Given the description of an element on the screen output the (x, y) to click on. 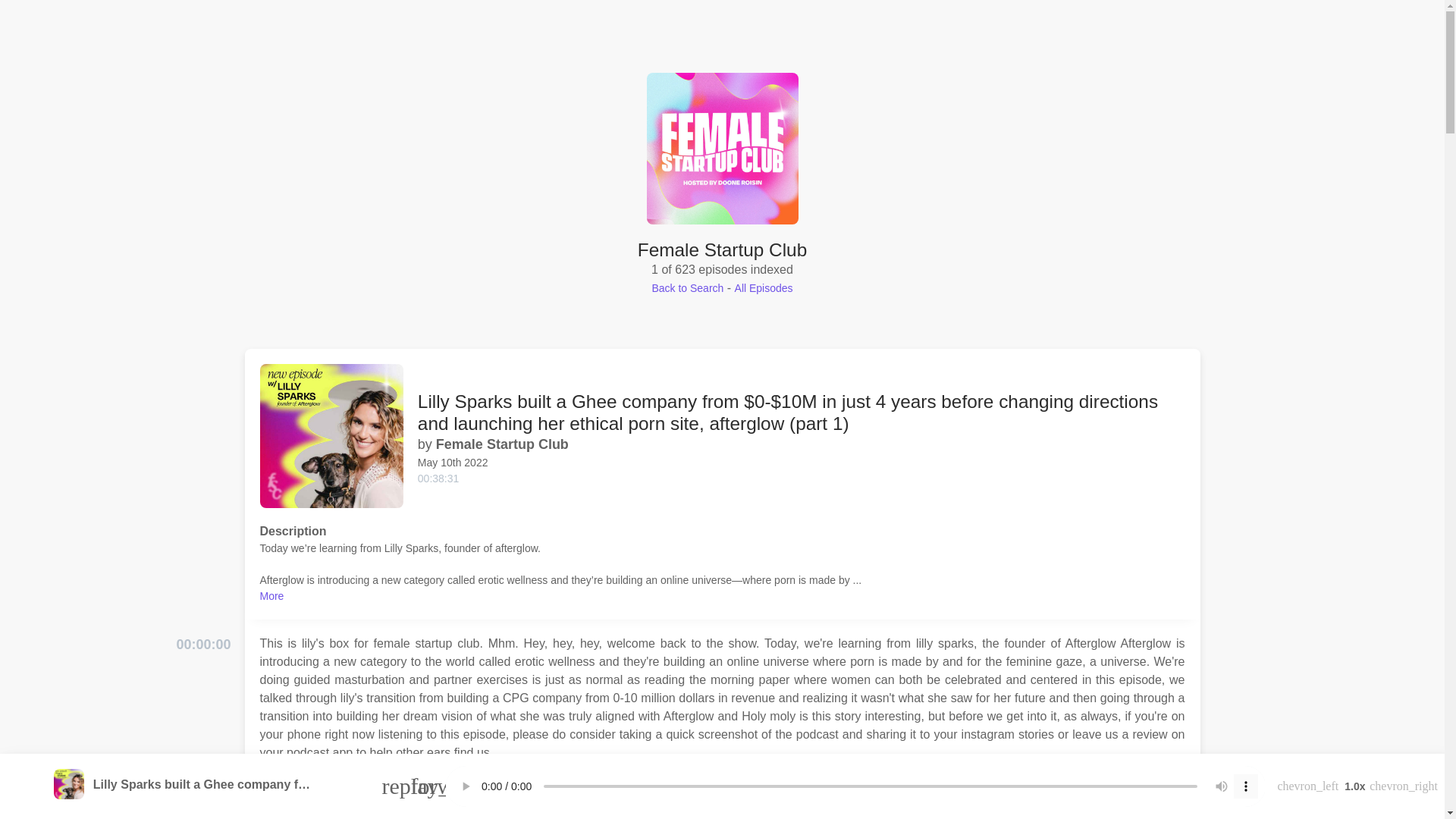
More (271, 595)
All Episodes (764, 287)
00:00:00 (203, 644)
Back to Search (686, 287)
00:01:22 (203, 790)
